Given the description of an element on the screen output the (x, y) to click on. 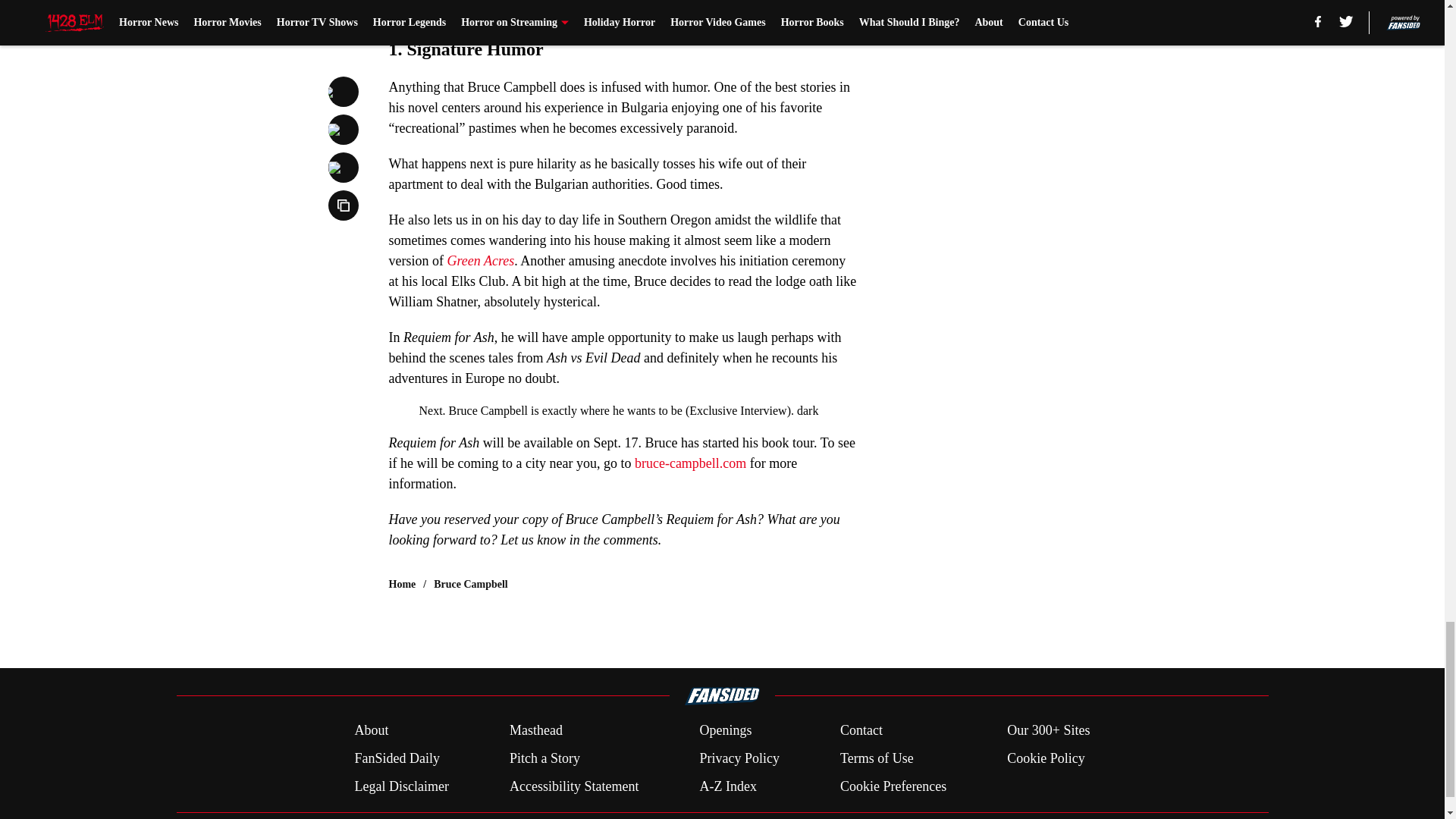
Masthead (535, 730)
Green Acres (479, 260)
Home (401, 584)
About (370, 730)
bruce-campbell.com (689, 462)
Bruce Campbell (470, 584)
Openings (724, 730)
